Given the description of an element on the screen output the (x, y) to click on. 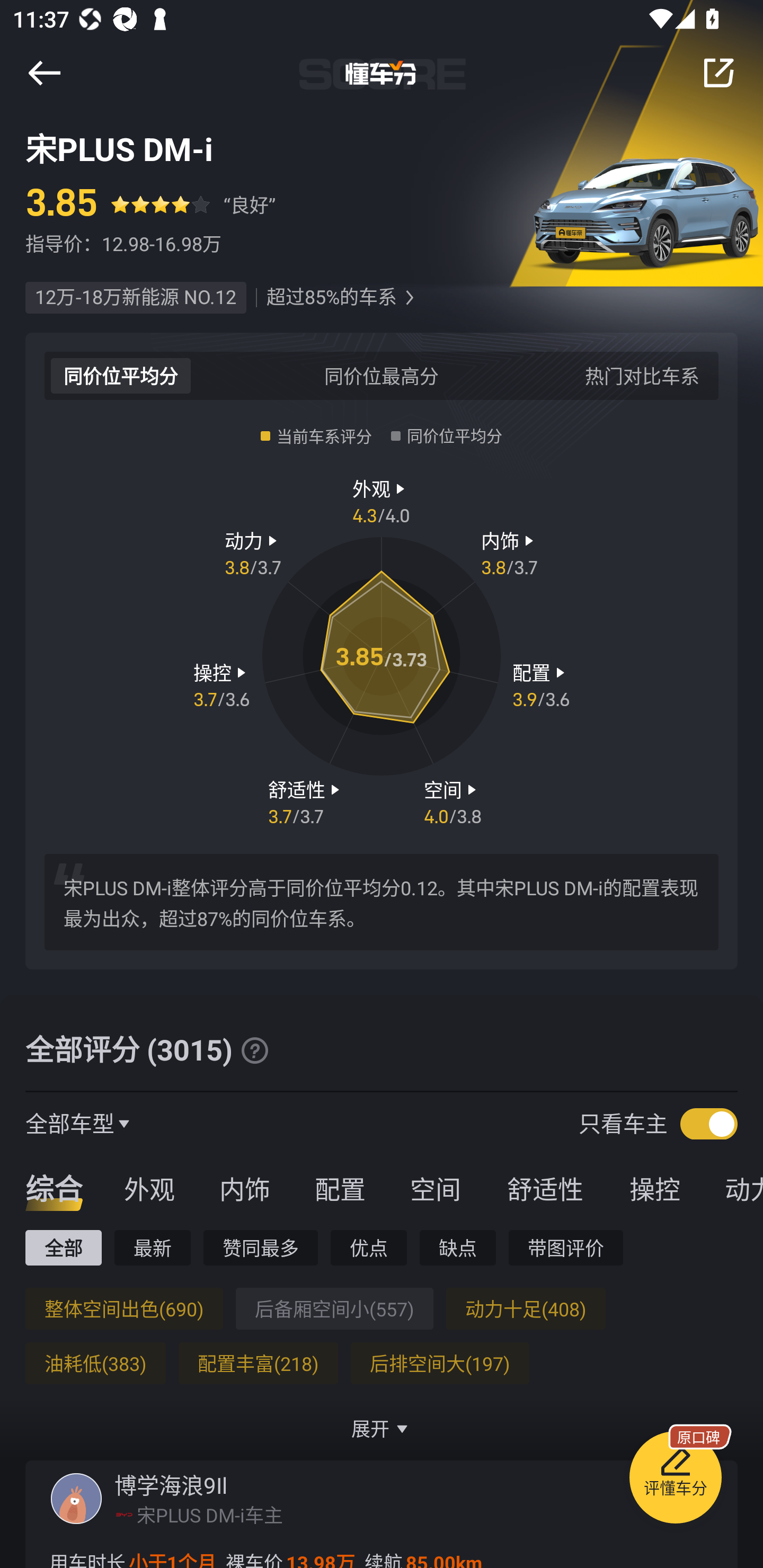
 (44, 72)
 (718, 72)
超过85%的车系 (331, 297)
 (408, 297)
同价位平均分 (120, 375)
同价位最高分 (381, 375)
热门对比车系 (641, 375)
外观  4.3 / 4.0 (381, 500)
动力  3.8 / 3.7 (252, 552)
内饰  3.8 / 3.7 (509, 552)
操控  3.7 / 3.6 (221, 685)
配置  3.9 / 3.6 (540, 685)
舒适性  3.7 / 3.7 (305, 801)
空间  4.0 / 3.8 (452, 801)
 (254, 1050)
全部车型 (69, 1123)
外观 (148, 1188)
内饰 (244, 1188)
配置 (339, 1188)
空间 (434, 1188)
舒适性 (544, 1188)
操控 (654, 1188)
全部 (63, 1247)
最新 (152, 1247)
赞同最多 (260, 1247)
优点 (368, 1247)
缺点 (457, 1247)
带图评价 (565, 1247)
整体空间出色(690) (123, 1308)
后备厢空间小(557) (334, 1308)
动力十足(408) (525, 1308)
油耗低(383) (95, 1363)
配置丰富(218) (258, 1363)
后排空间大(197) (439, 1363)
展开  (381, 1428)
 评懂车分 原口碑 (675, 1480)
博学海浪9Il (170, 1485)
宋PLUS DM-i车主 (209, 1514)
